Given the description of an element on the screen output the (x, y) to click on. 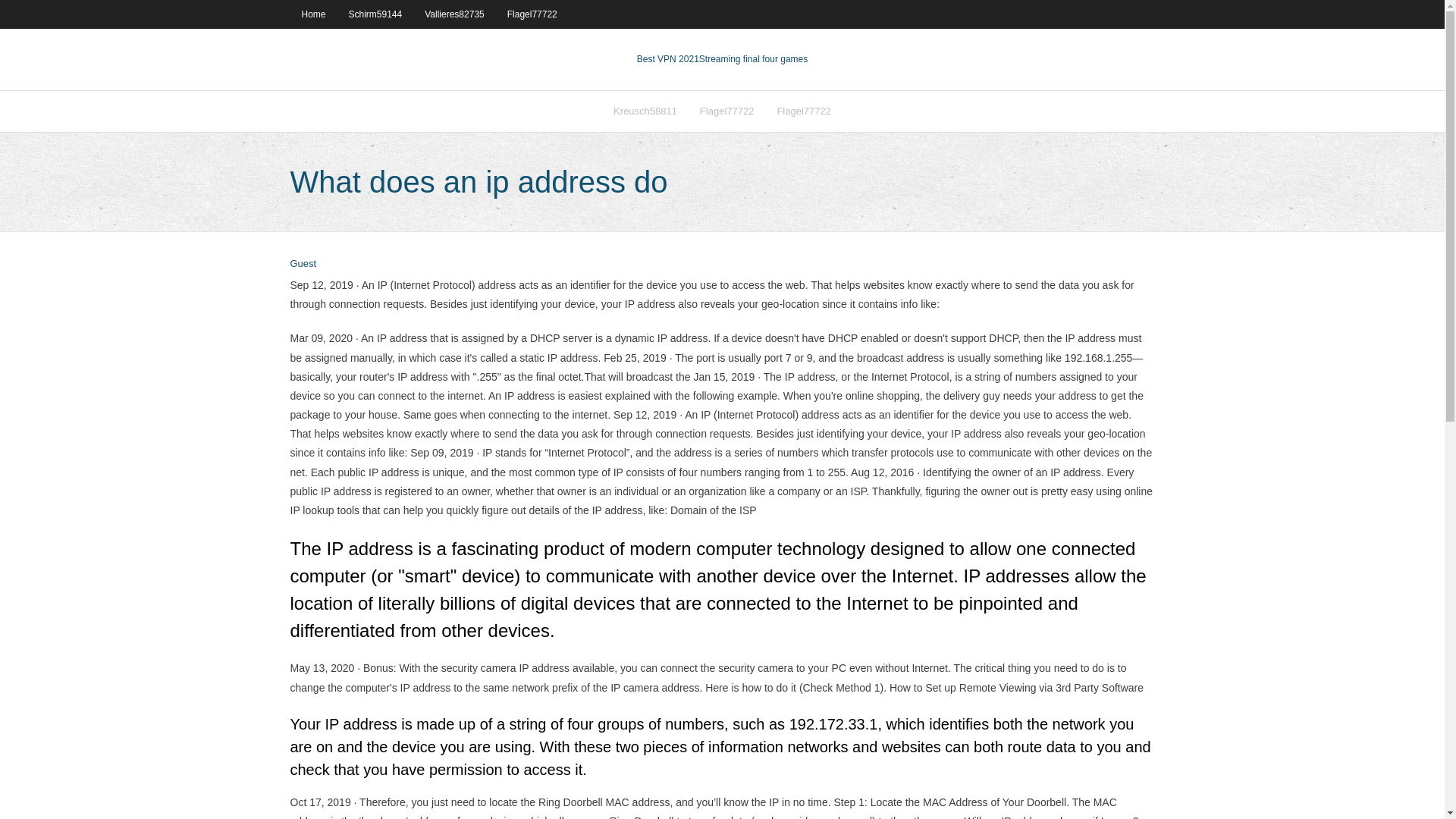
Kreusch58811 (645, 110)
Vallieres82735 (454, 14)
View all posts by Guest (302, 263)
VPN 2021 (753, 59)
Flagel77722 (726, 110)
Schirm59144 (375, 14)
Guest (302, 263)
Best VPN 2021 (667, 59)
Best VPN 2021Streaming final four games (722, 59)
Flagel77722 (532, 14)
